Given the description of an element on the screen output the (x, y) to click on. 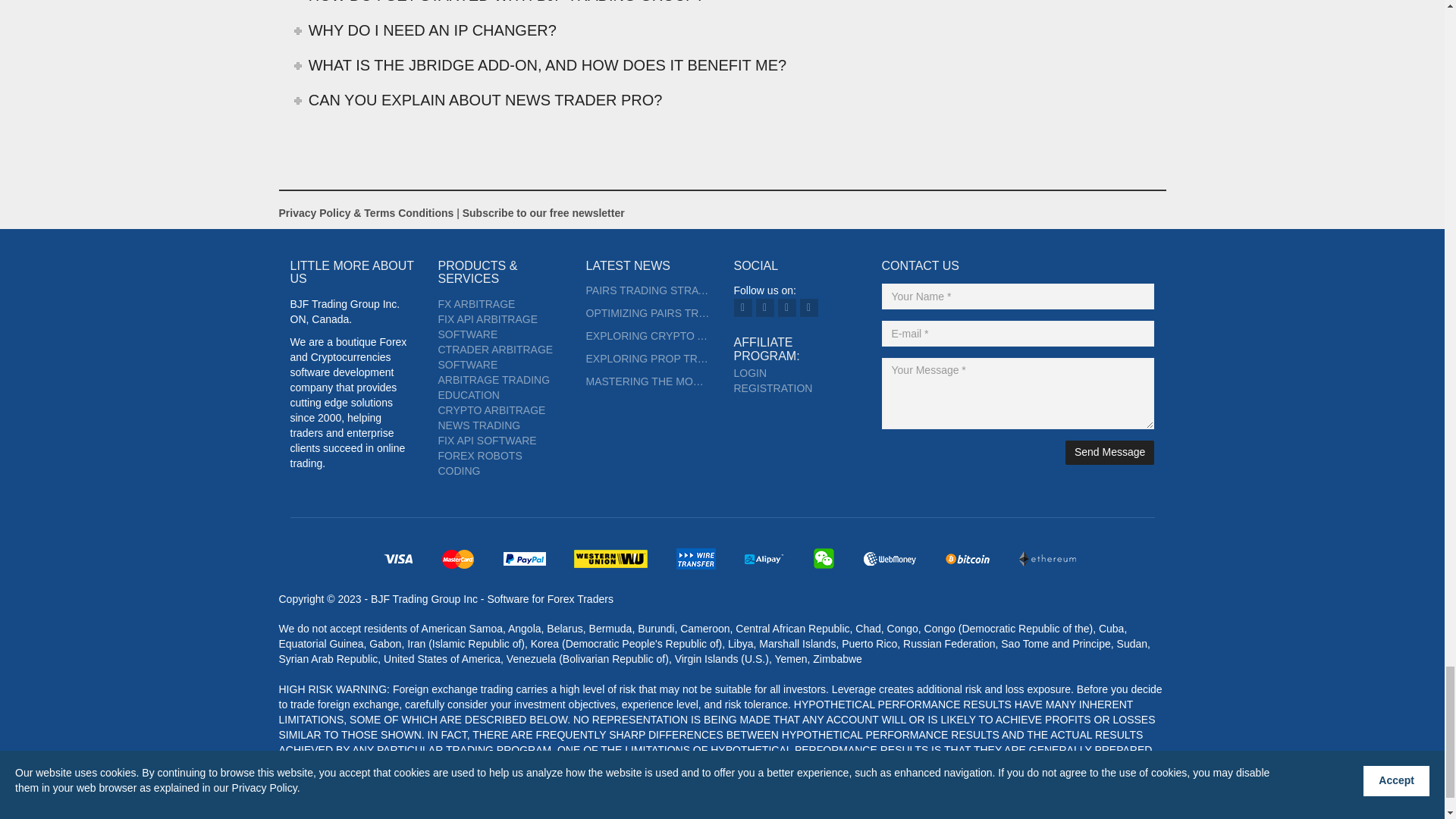
Send Message (1109, 452)
